Given the description of an element on the screen output the (x, y) to click on. 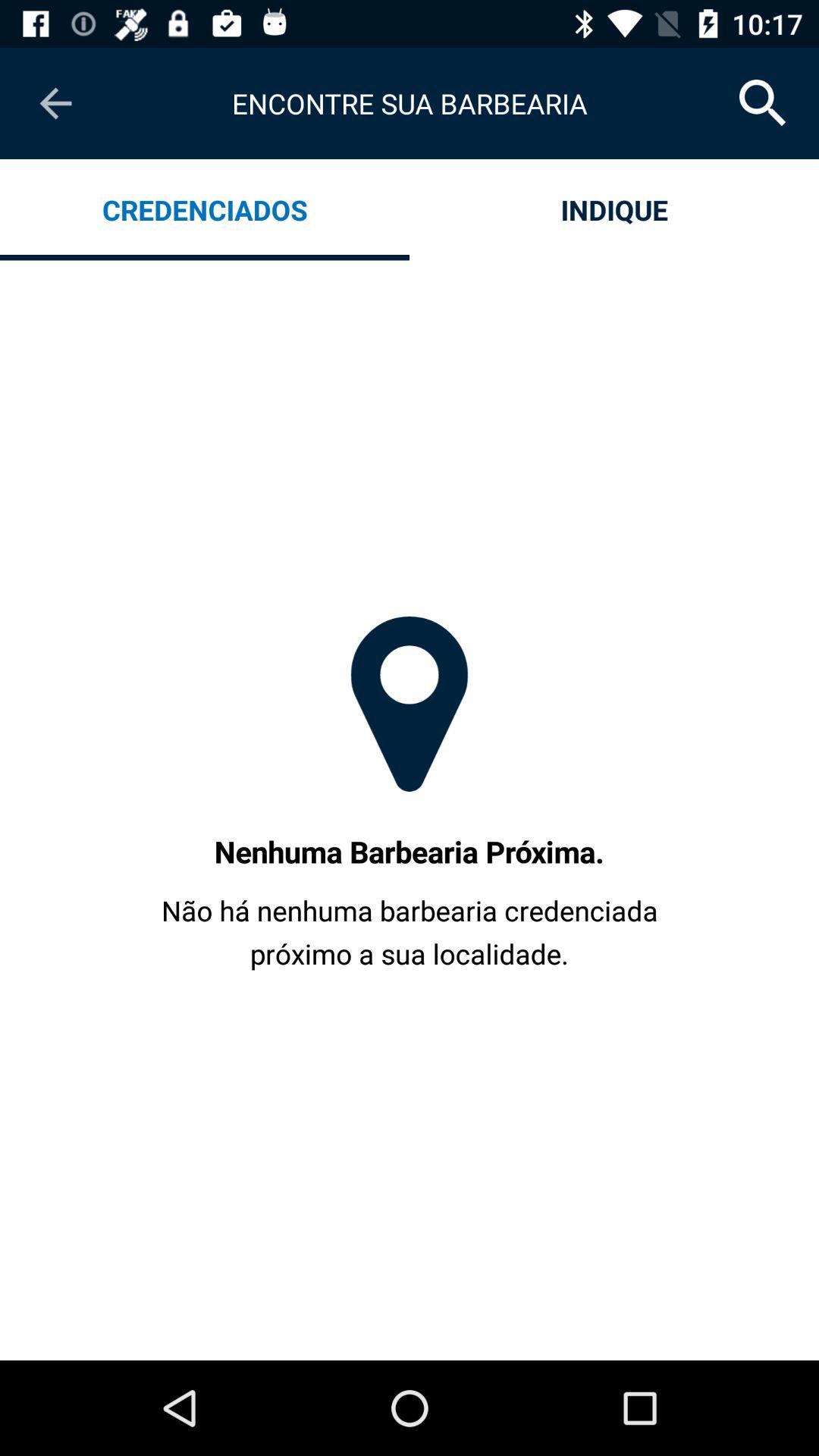
open the app above indique app (763, 103)
